Given the description of an element on the screen output the (x, y) to click on. 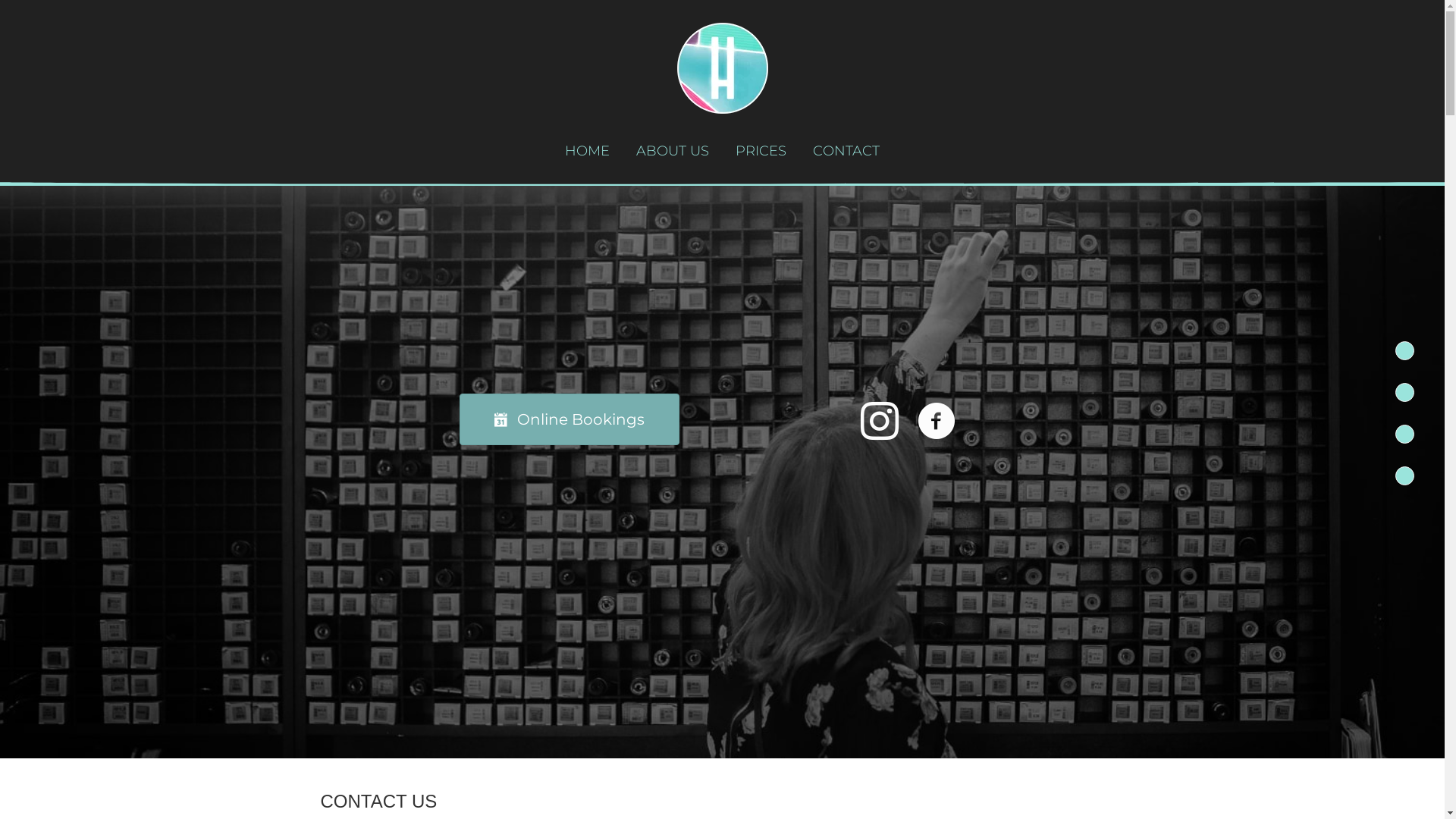
Insta Circle 1_Small copy Element type: hover (721, 67)
PRICES Element type: text (760, 151)
ABOUT US Element type: text (672, 151)
CONTACT Element type: text (846, 151)
HOME Element type: text (587, 151)
Online Bookings Element type: text (569, 419)
